Given the description of an element on the screen output the (x, y) to click on. 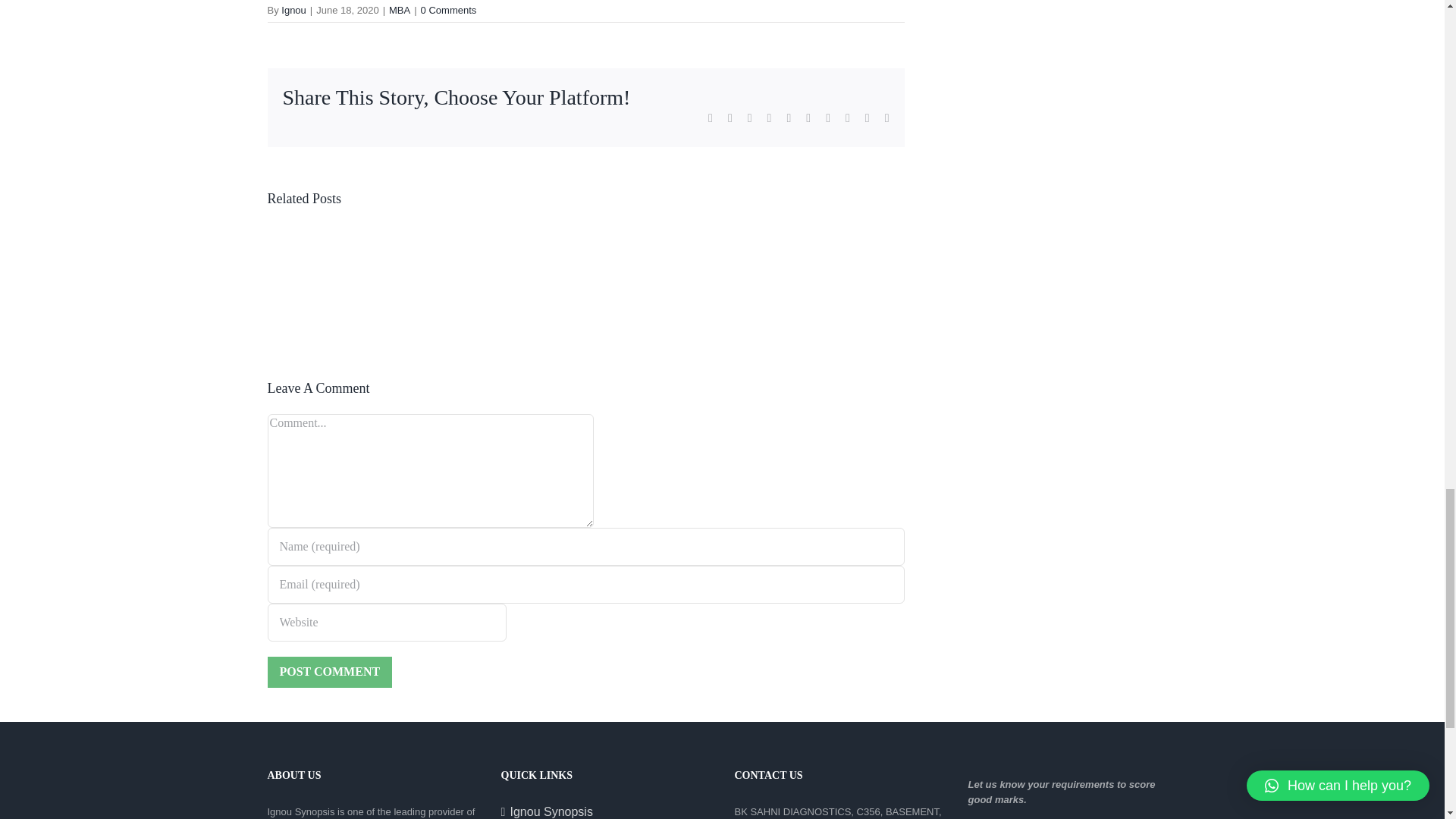
Facebook (710, 118)
Reddit (750, 118)
Twitter (730, 118)
Posts by Ignou (293, 9)
Xing (866, 118)
LinkedIn (769, 118)
Vk (847, 118)
WhatsApp (788, 118)
Tumblr (808, 118)
Post Comment (328, 671)
Pinterest (827, 118)
